Given the description of an element on the screen output the (x, y) to click on. 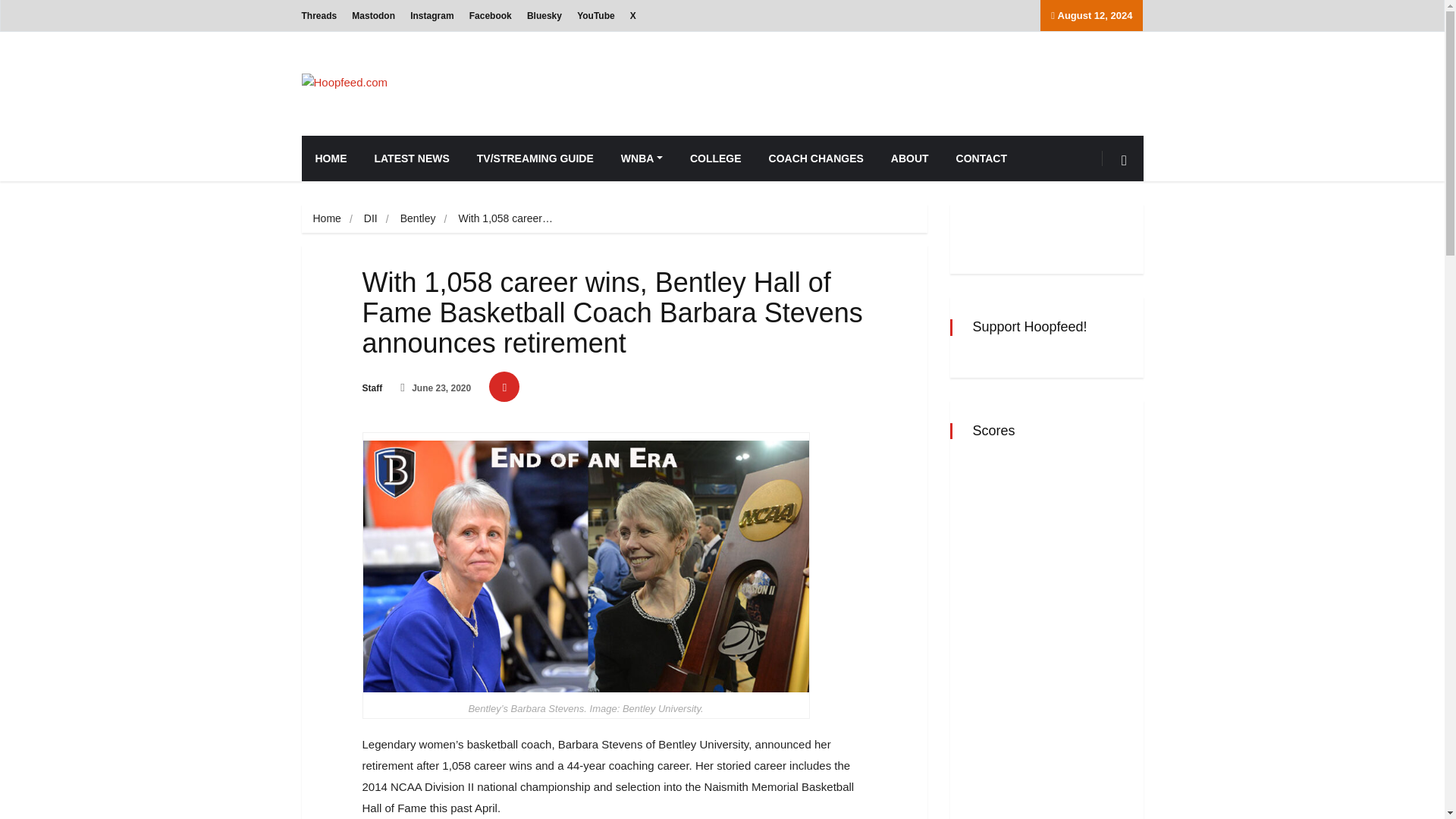
LATEST NEWS (412, 157)
Mastodon (373, 15)
Bentley (417, 218)
Facebook (490, 15)
ABOUT (909, 157)
HOME (331, 157)
Bluesky (544, 15)
YouTube (595, 15)
DII (370, 218)
COACH CHANGES (816, 157)
